Given the description of an element on the screen output the (x, y) to click on. 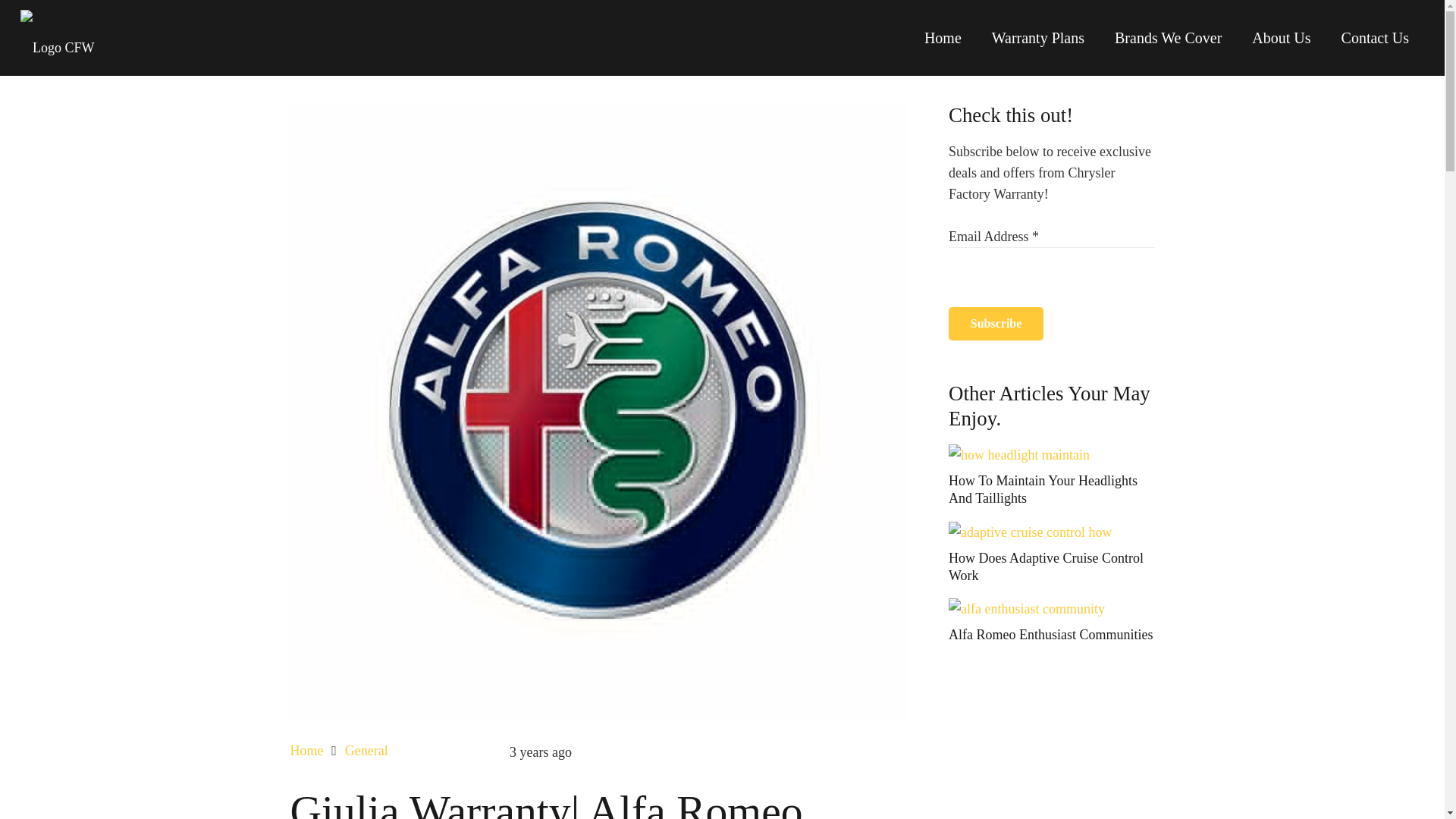
Contact Us (1374, 38)
Warranty Plans (1037, 38)
Home (942, 38)
Subscribe (996, 324)
About Us (1280, 38)
Home (306, 750)
Brands We Cover (1167, 38)
General (366, 750)
